Given the description of an element on the screen output the (x, y) to click on. 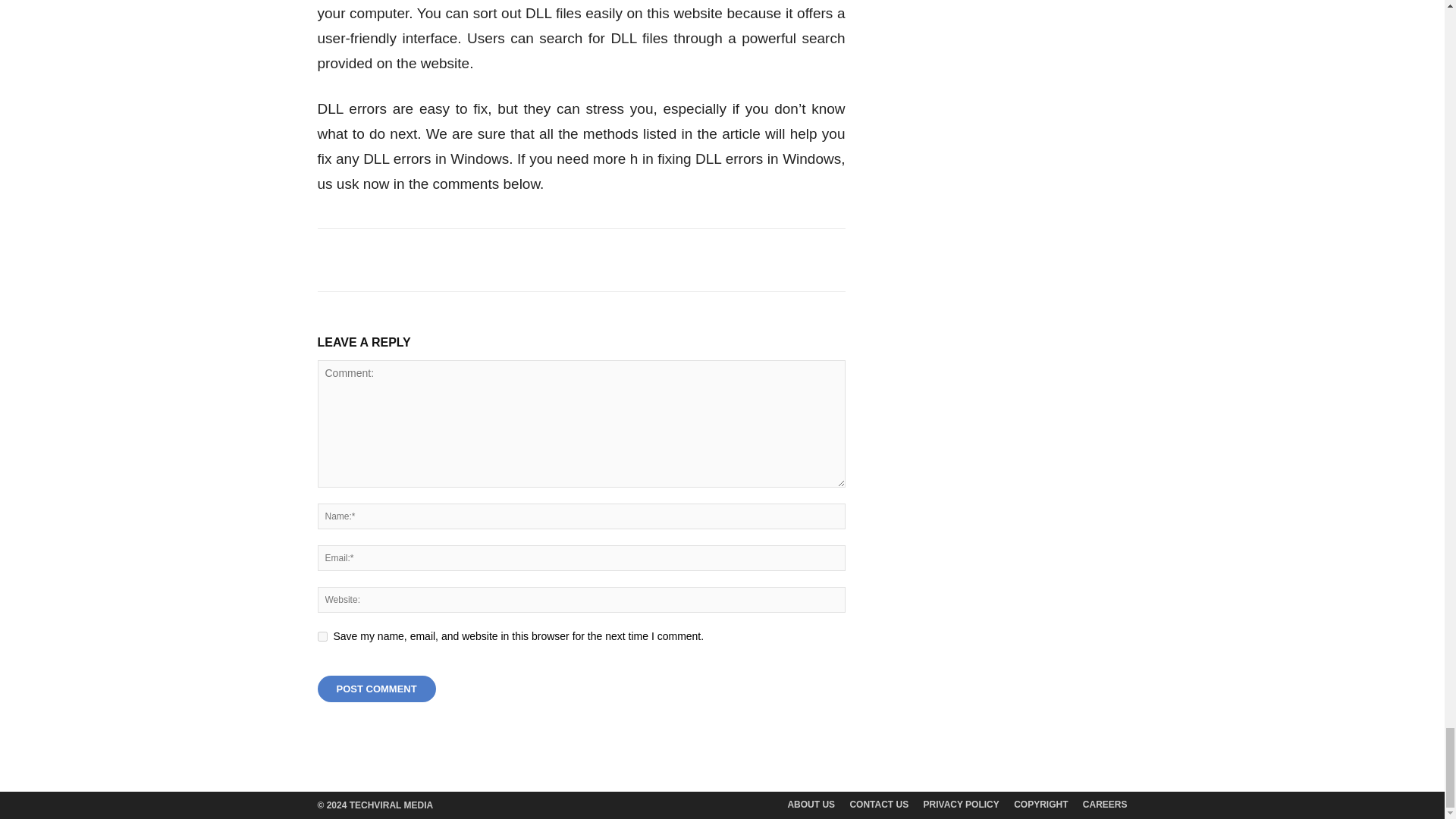
yes (321, 636)
Post Comment (376, 688)
